Given the description of an element on the screen output the (x, y) to click on. 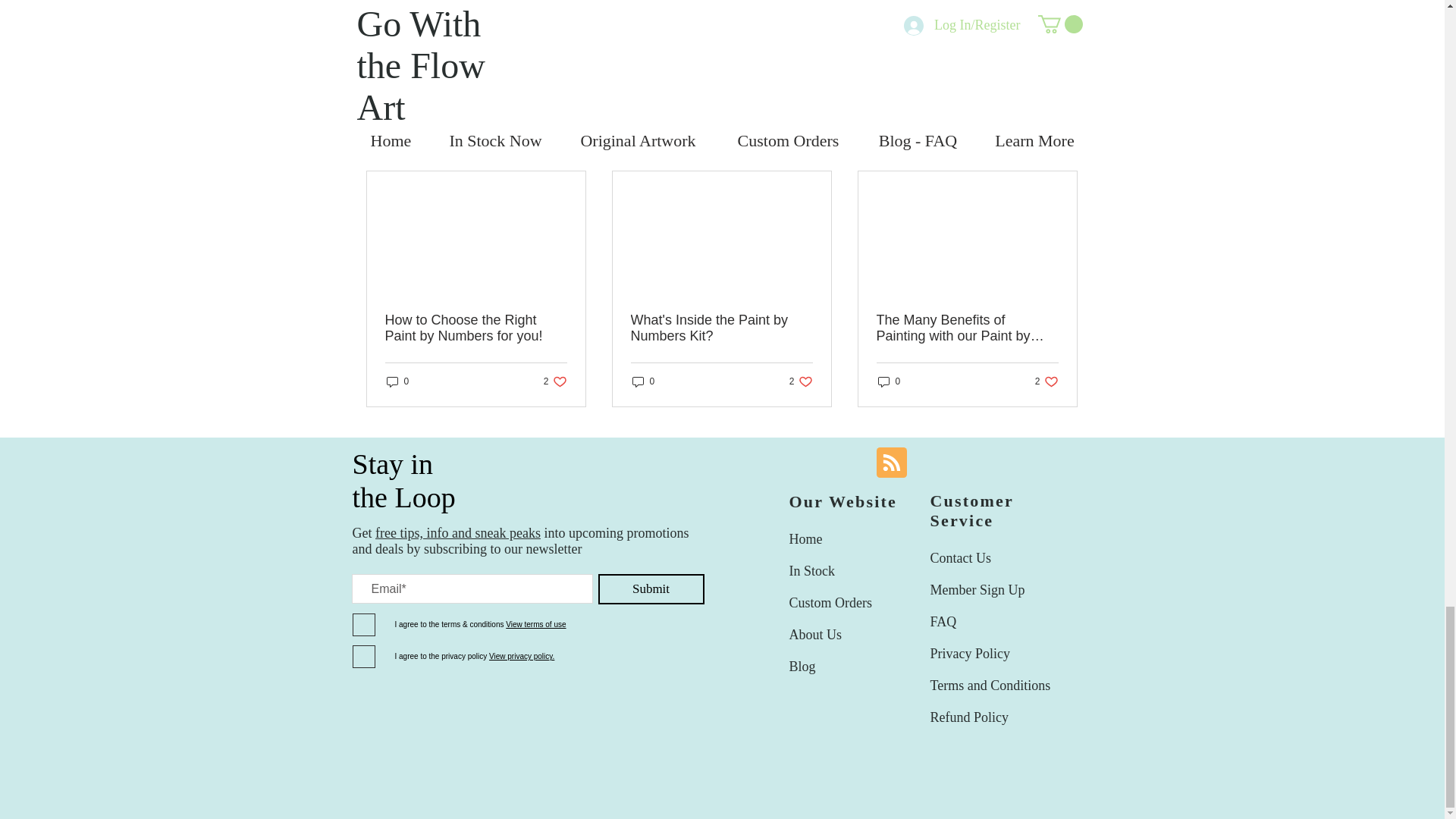
0 (555, 381)
See All (397, 381)
How to Choose the Right Paint by Numbers for you! (1061, 144)
